Given the description of an element on the screen output the (x, y) to click on. 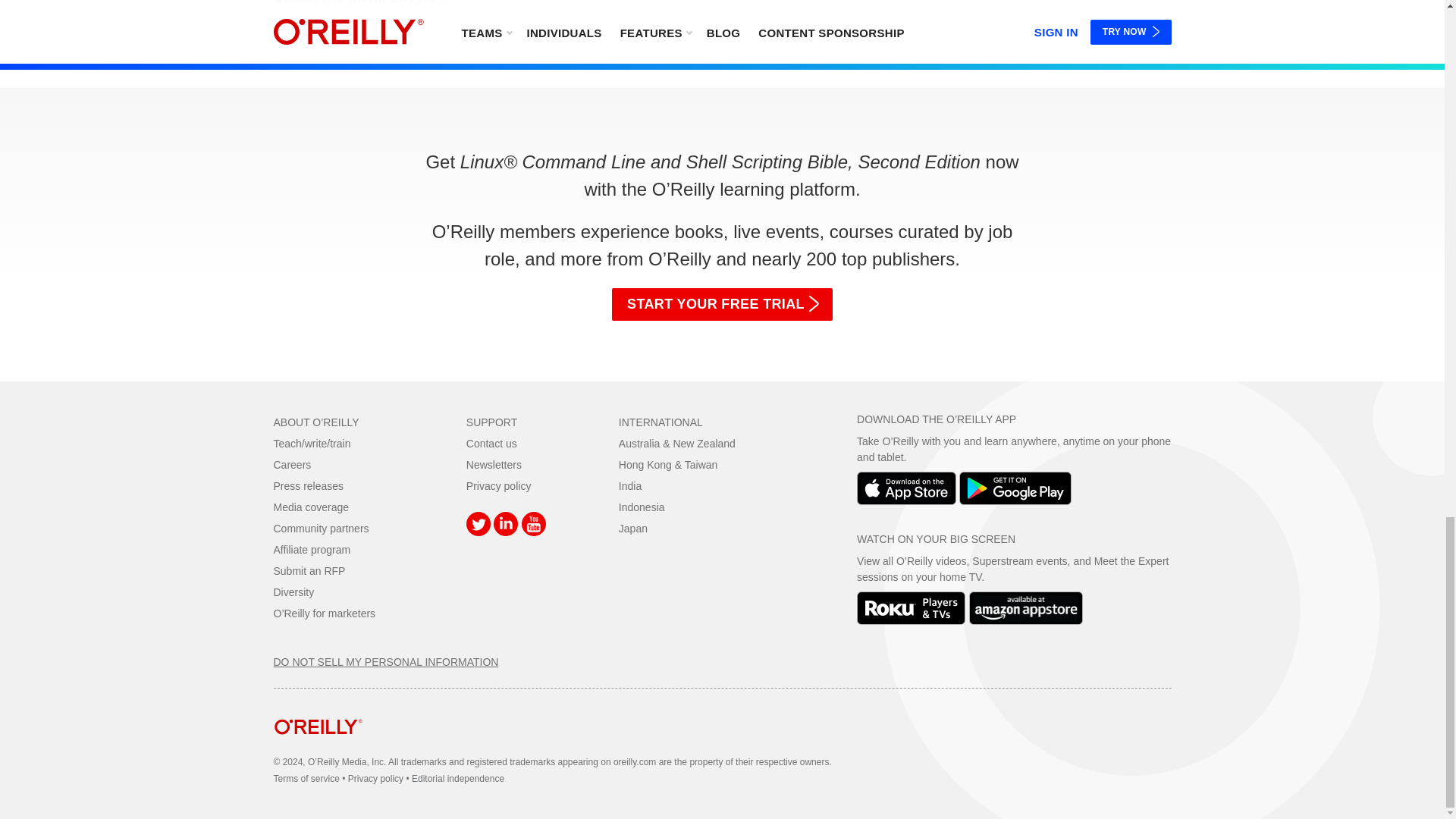
Community partners (320, 528)
home page (317, 745)
Submit an RFP (309, 571)
Contact us (490, 443)
Newsletters (493, 464)
Media coverage (311, 507)
Careers (292, 464)
Press releases (308, 485)
START YOUR FREE TRIAL (721, 304)
Diversity (293, 592)
SUPPORT (490, 422)
Affiliate program (311, 549)
